Given the description of an element on the screen output the (x, y) to click on. 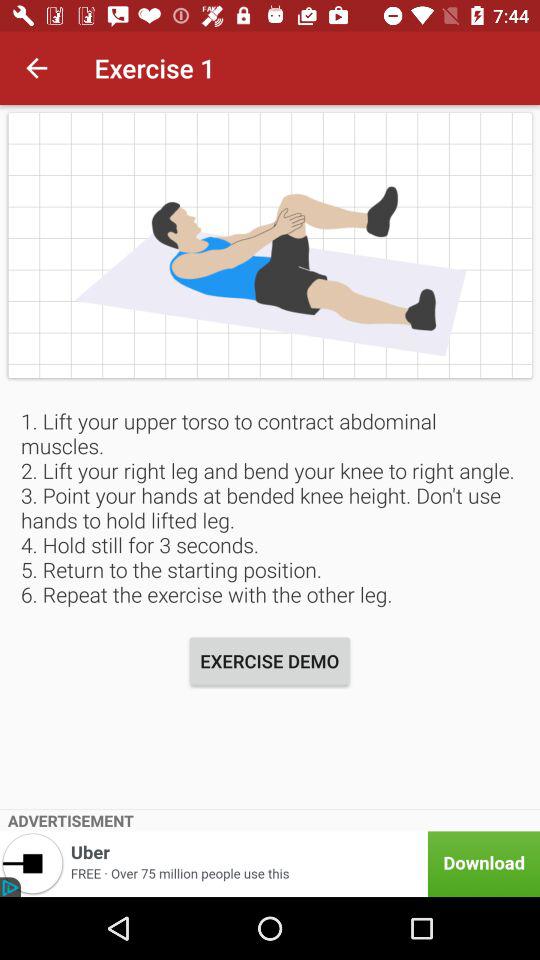
download uber app (270, 864)
